Given the description of an element on the screen output the (x, y) to click on. 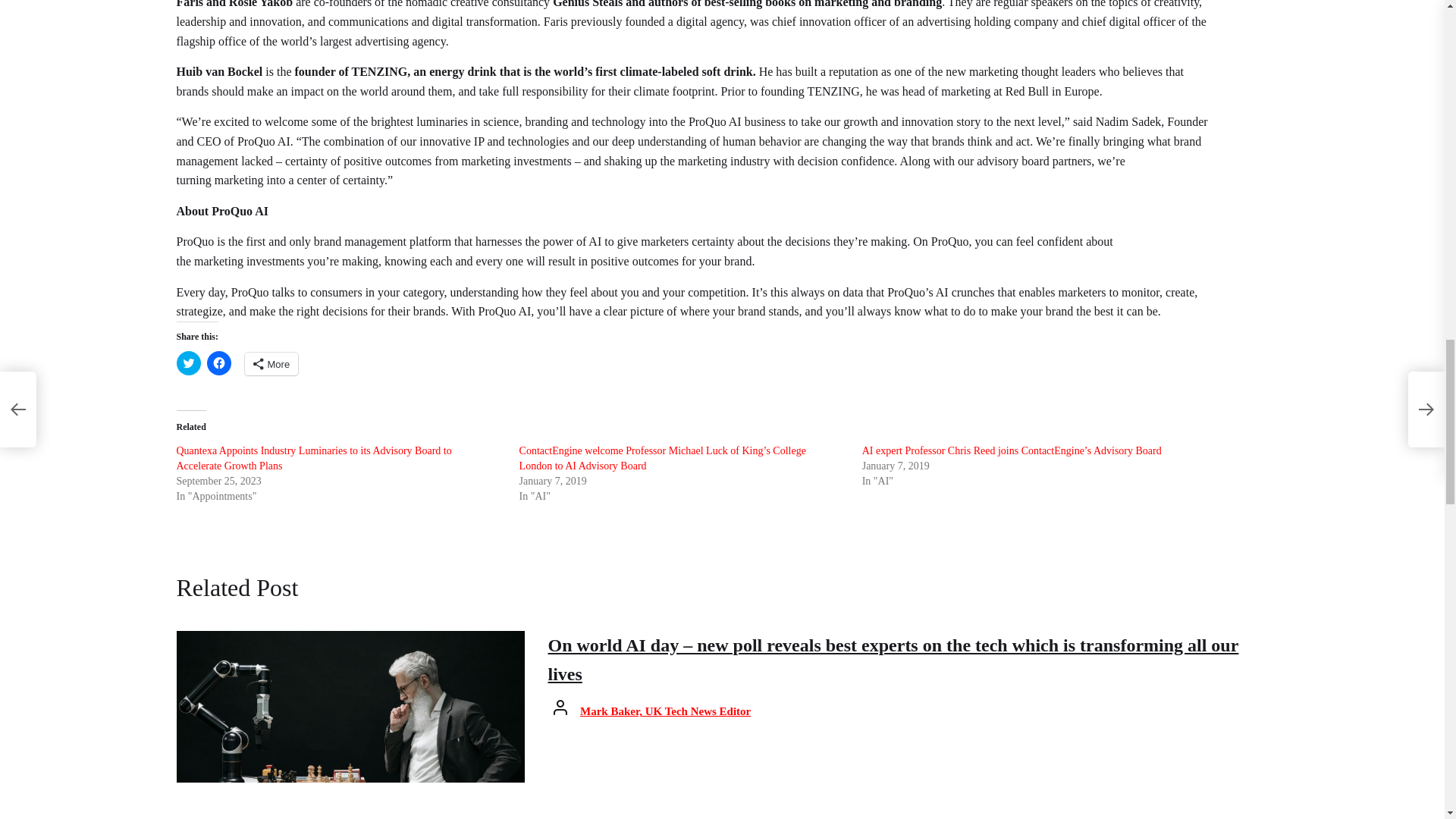
Click to share on Facebook (218, 363)
Click to share on Twitter (188, 363)
